Given the description of an element on the screen output the (x, y) to click on. 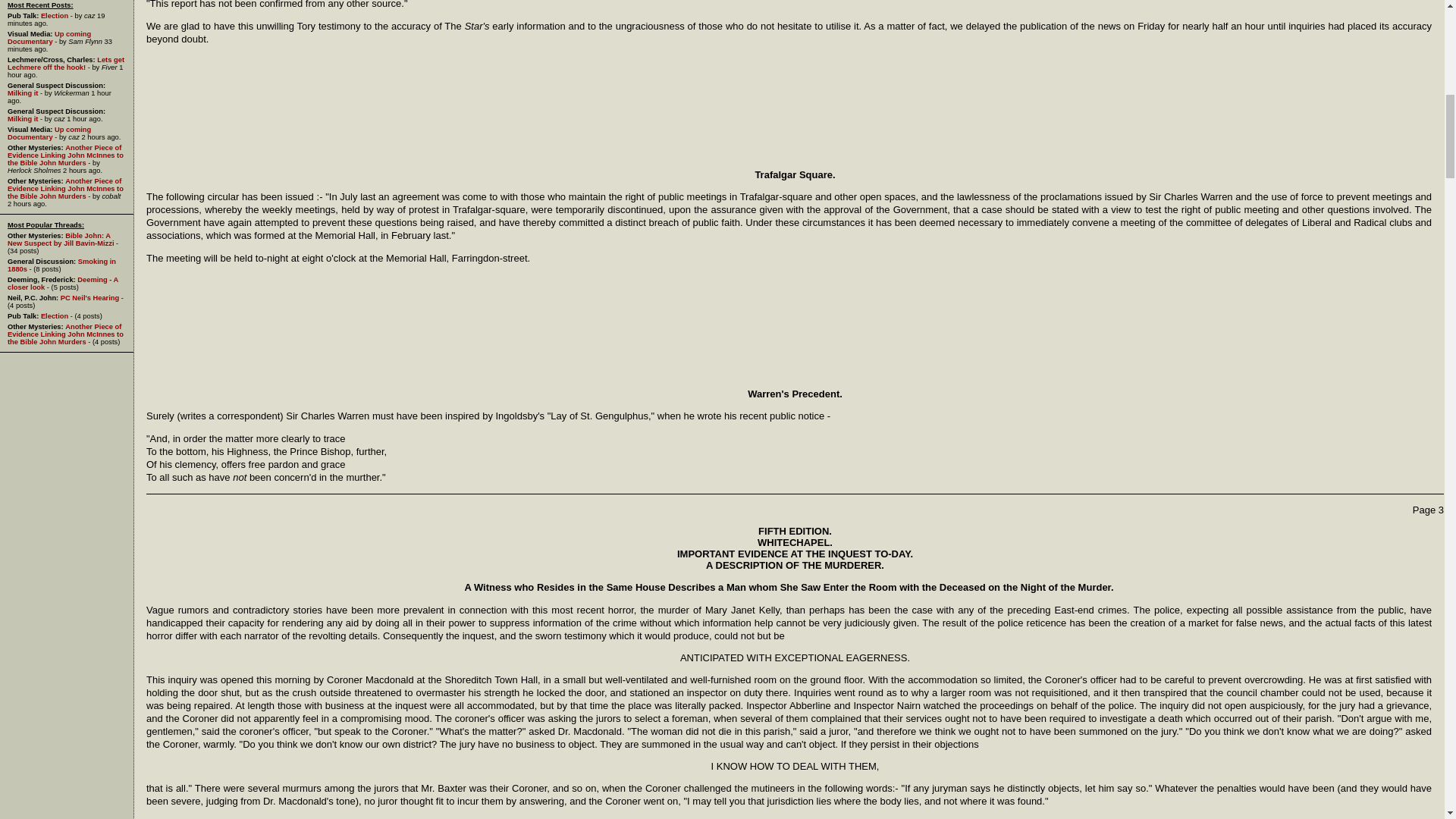
Milking it (22, 118)
Milking it (22, 93)
Up coming Documentary (48, 133)
Lets get Lechmere off the hook! (65, 63)
Election (54, 15)
Election (54, 316)
Smoking in 1880s (61, 264)
PC Neil's Hearing (90, 298)
Deeming - A closer look (62, 283)
Bible John: A New Suspect by Jill Bavin-Mizzi (60, 239)
Up coming Documentary (48, 37)
